Given the description of an element on the screen output the (x, y) to click on. 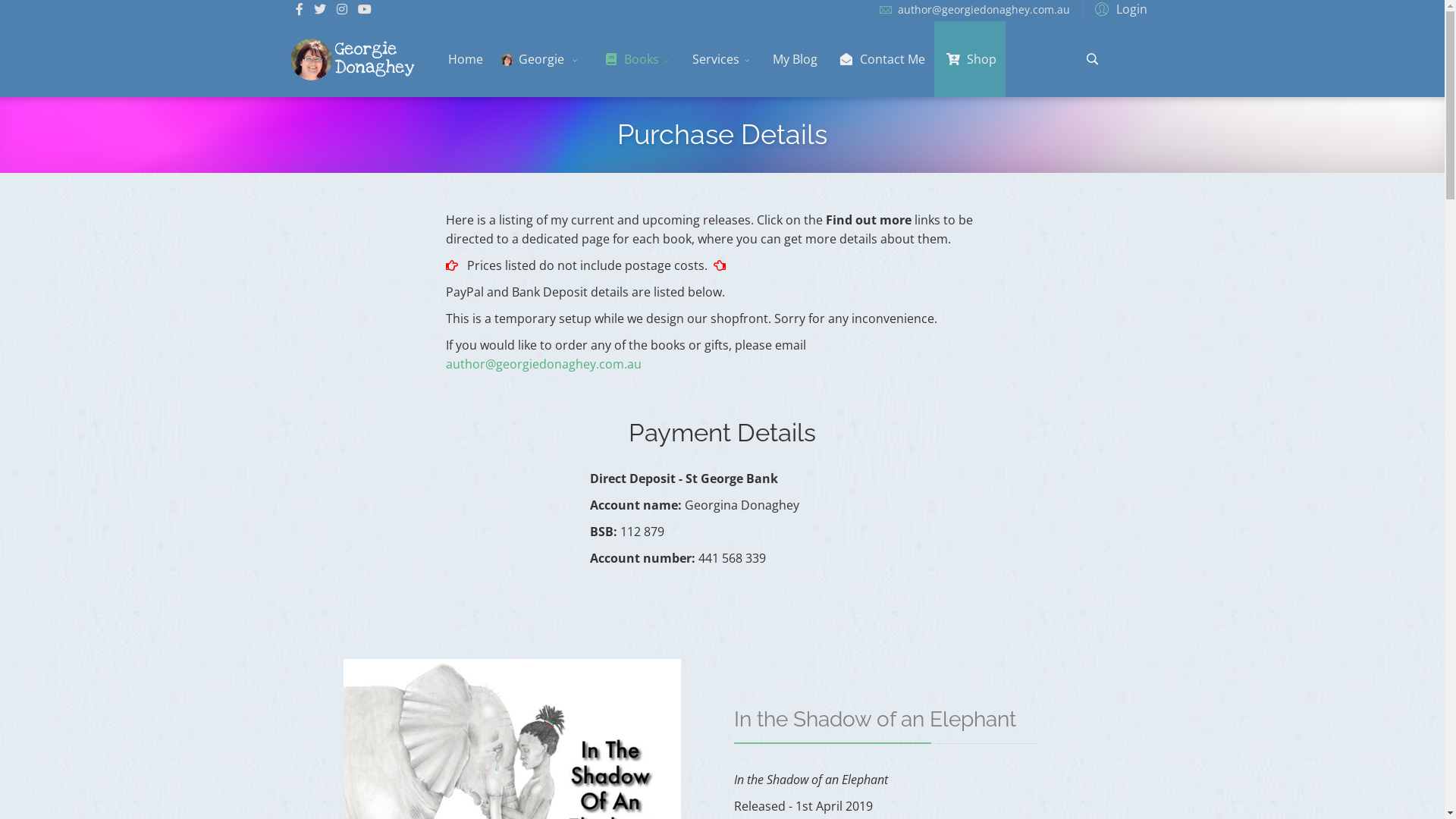
Login Element type: text (1118, 8)
Home Element type: text (465, 59)
My Blog Element type: text (794, 59)
Shop Element type: text (969, 59)
Contact Me Element type: text (879, 59)
Georgie Element type: text (541, 59)
Services Element type: text (723, 59)
Books Element type: text (637, 59)
